Given the description of an element on the screen output the (x, y) to click on. 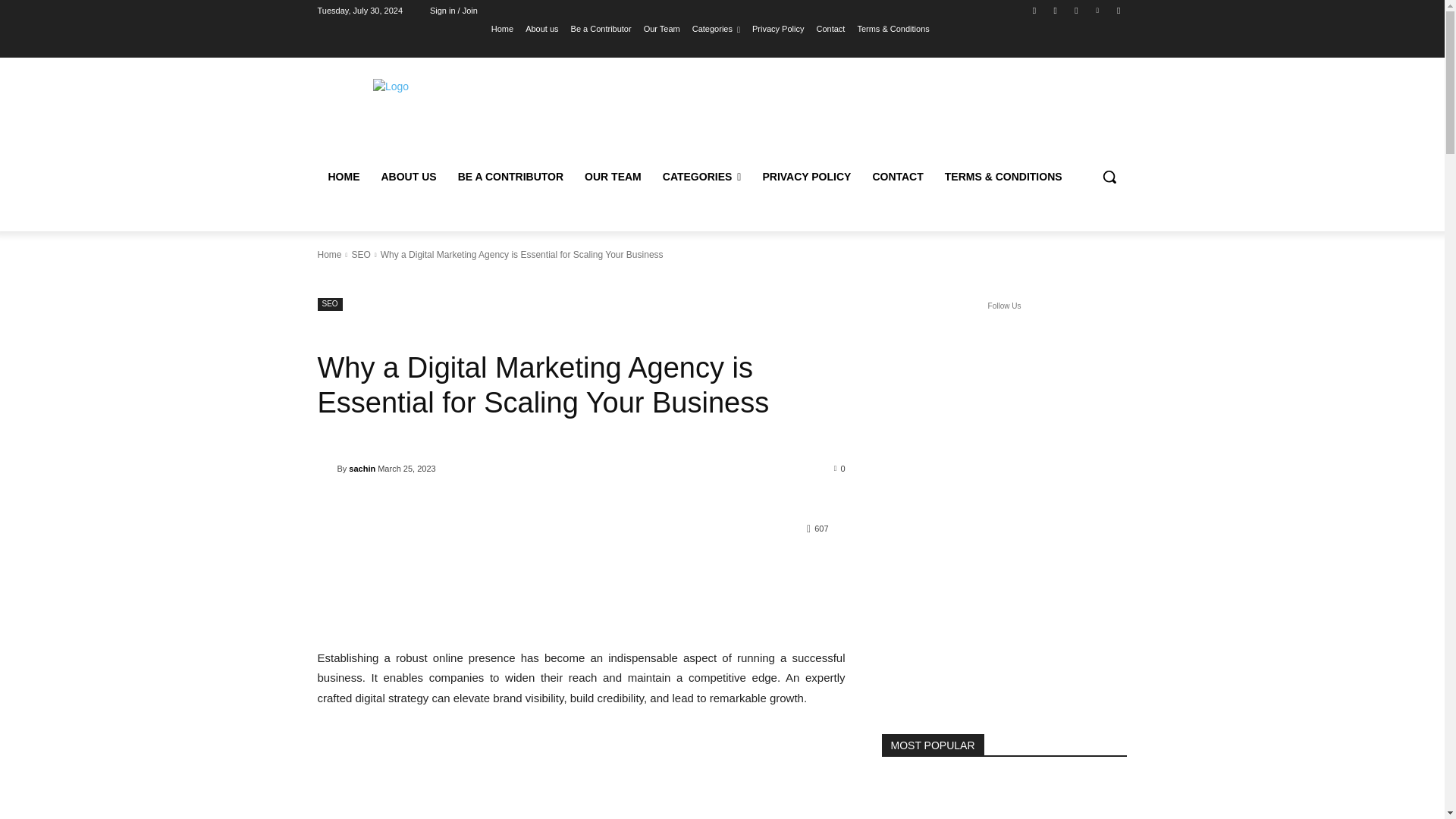
Twitter (1075, 9)
Facebook (1034, 9)
Vimeo (1097, 9)
About us (541, 28)
Categories (716, 28)
Privacy Policy (777, 28)
View all posts in SEO (359, 254)
sachin (326, 468)
Contact (829, 28)
Our Team (661, 28)
Youtube (1117, 9)
Instagram (1055, 9)
Be a Contributor (600, 28)
Home (502, 28)
